Given the description of an element on the screen output the (x, y) to click on. 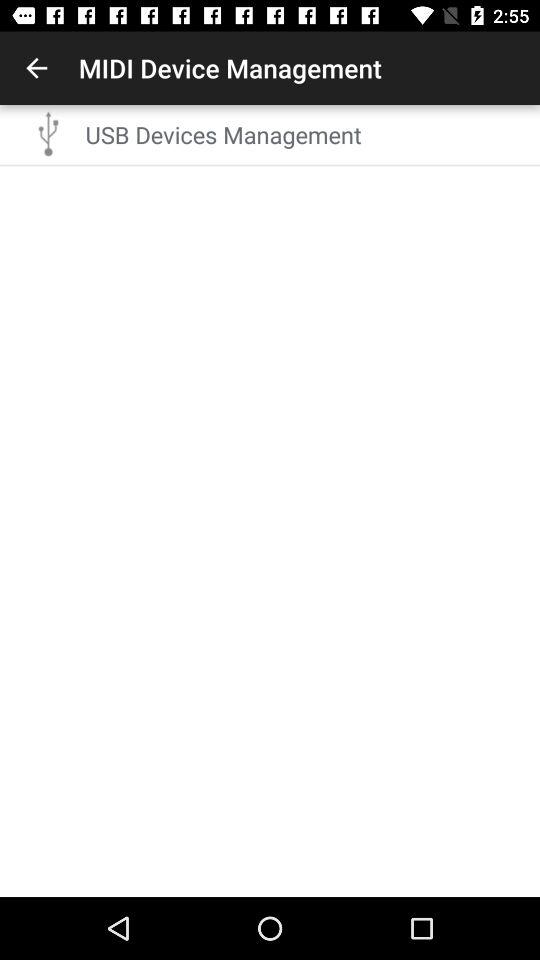
launch icon below the midi device management app (305, 134)
